Given the description of an element on the screen output the (x, y) to click on. 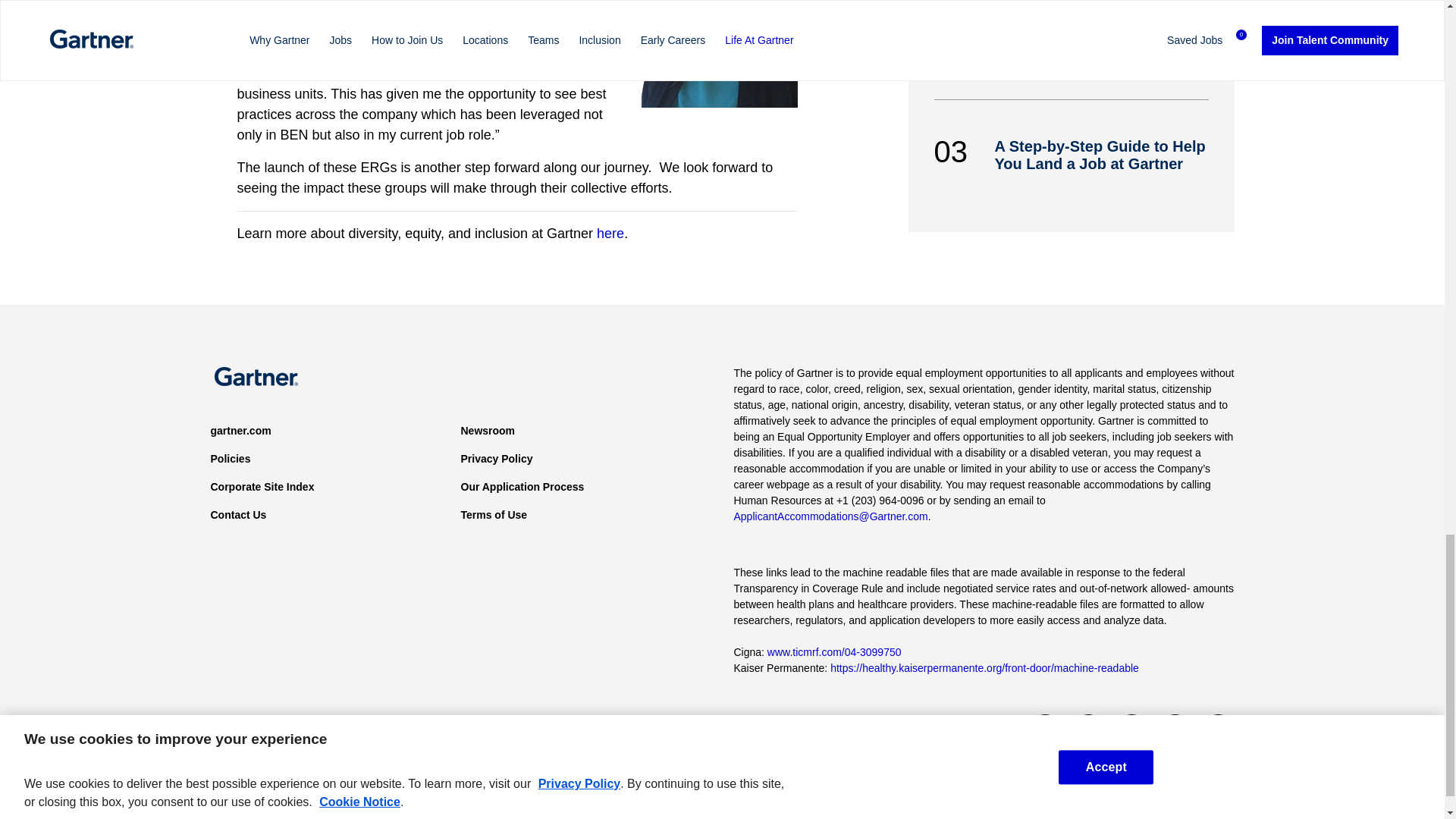
Facebook (1088, 730)
Instagram (1217, 730)
LinkedIn (1131, 730)
YouTube (1174, 730)
Twitter (1045, 730)
